Given the description of an element on the screen output the (x, y) to click on. 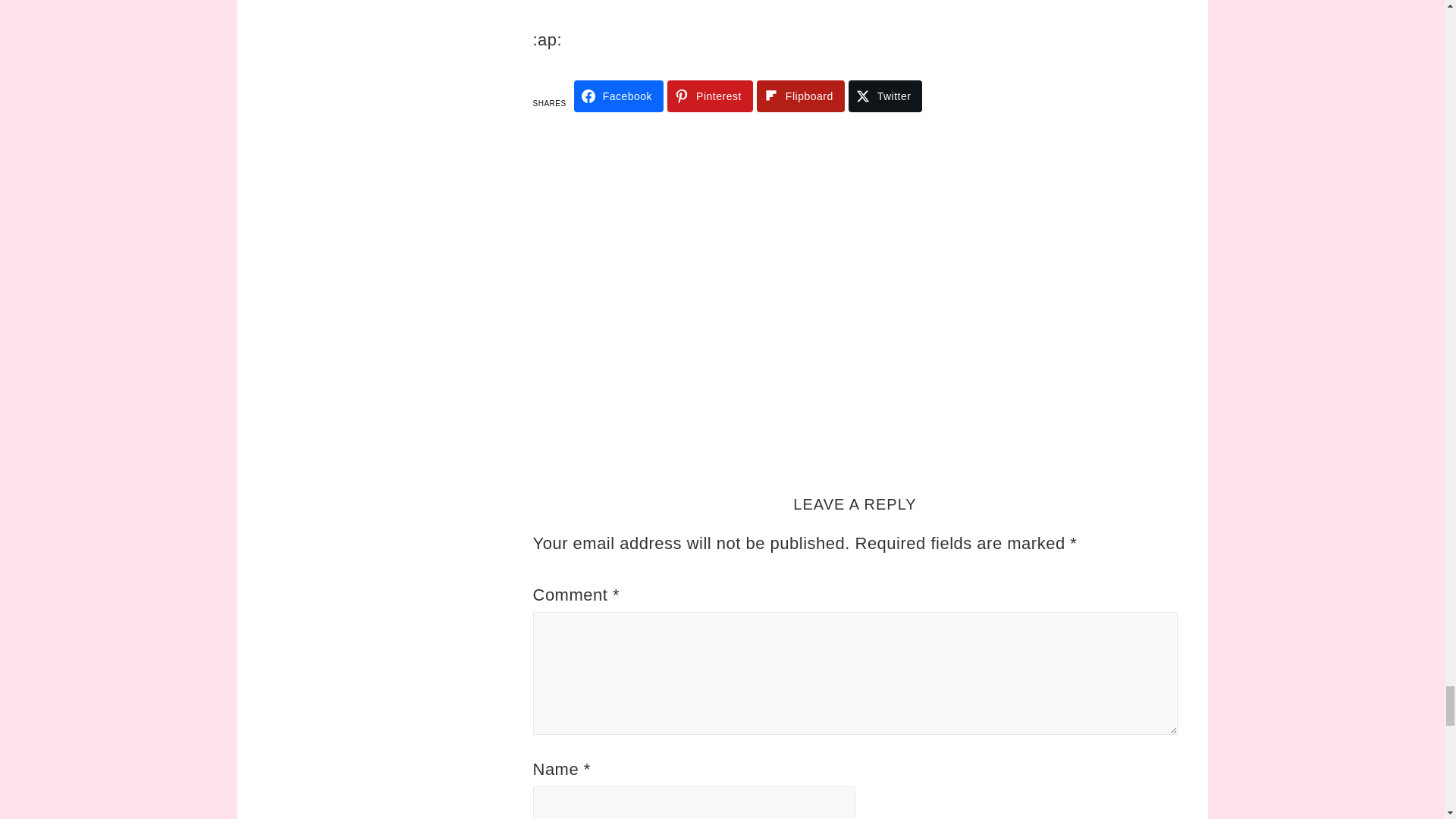
Share on Pinterest (709, 96)
Share on Twitter (885, 96)
Share on Facebook (618, 96)
Share on Flipboard (800, 96)
